Given the description of an element on the screen output the (x, y) to click on. 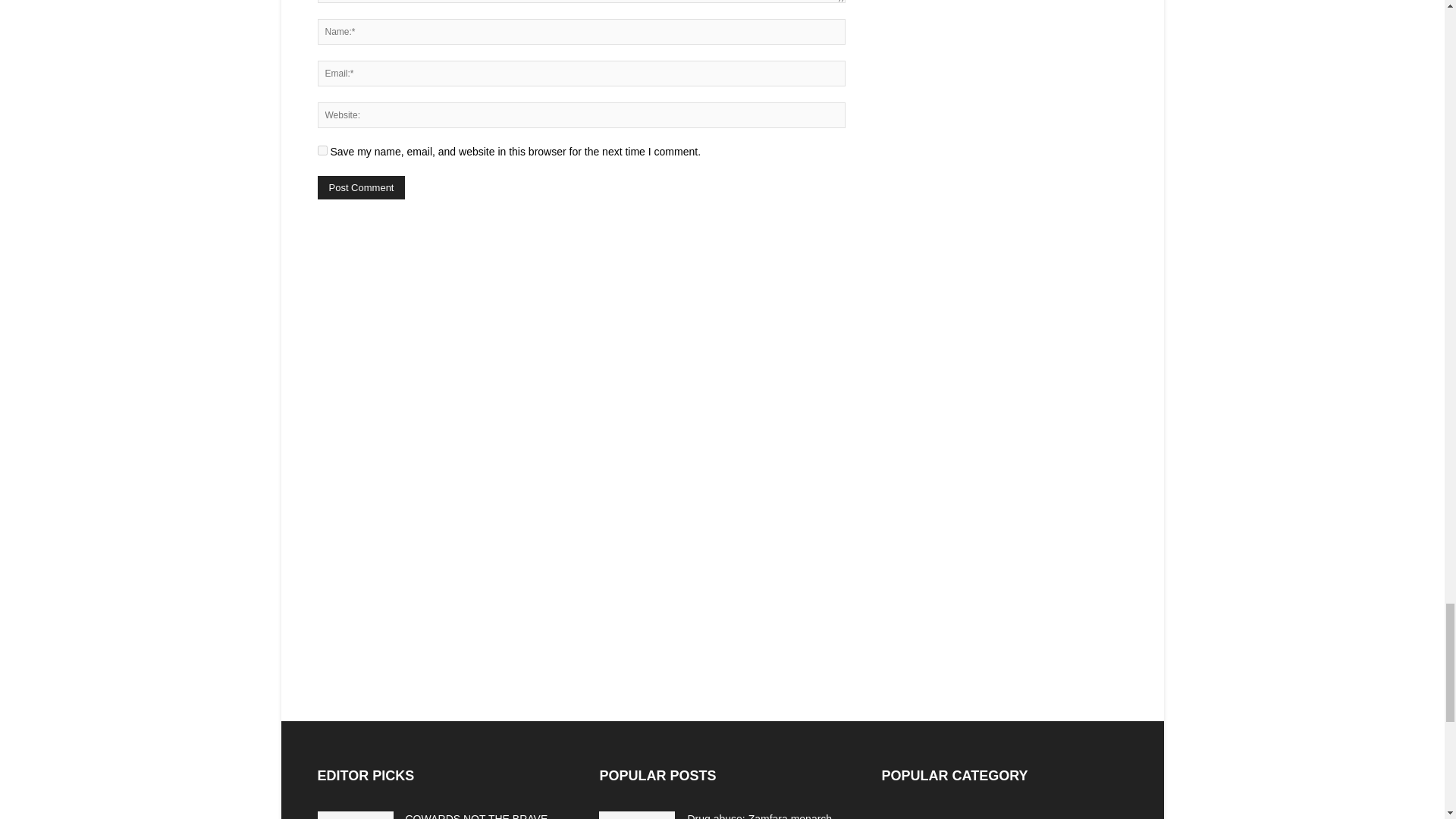
Post Comment (360, 187)
yes (321, 150)
